Given the description of an element on the screen output the (x, y) to click on. 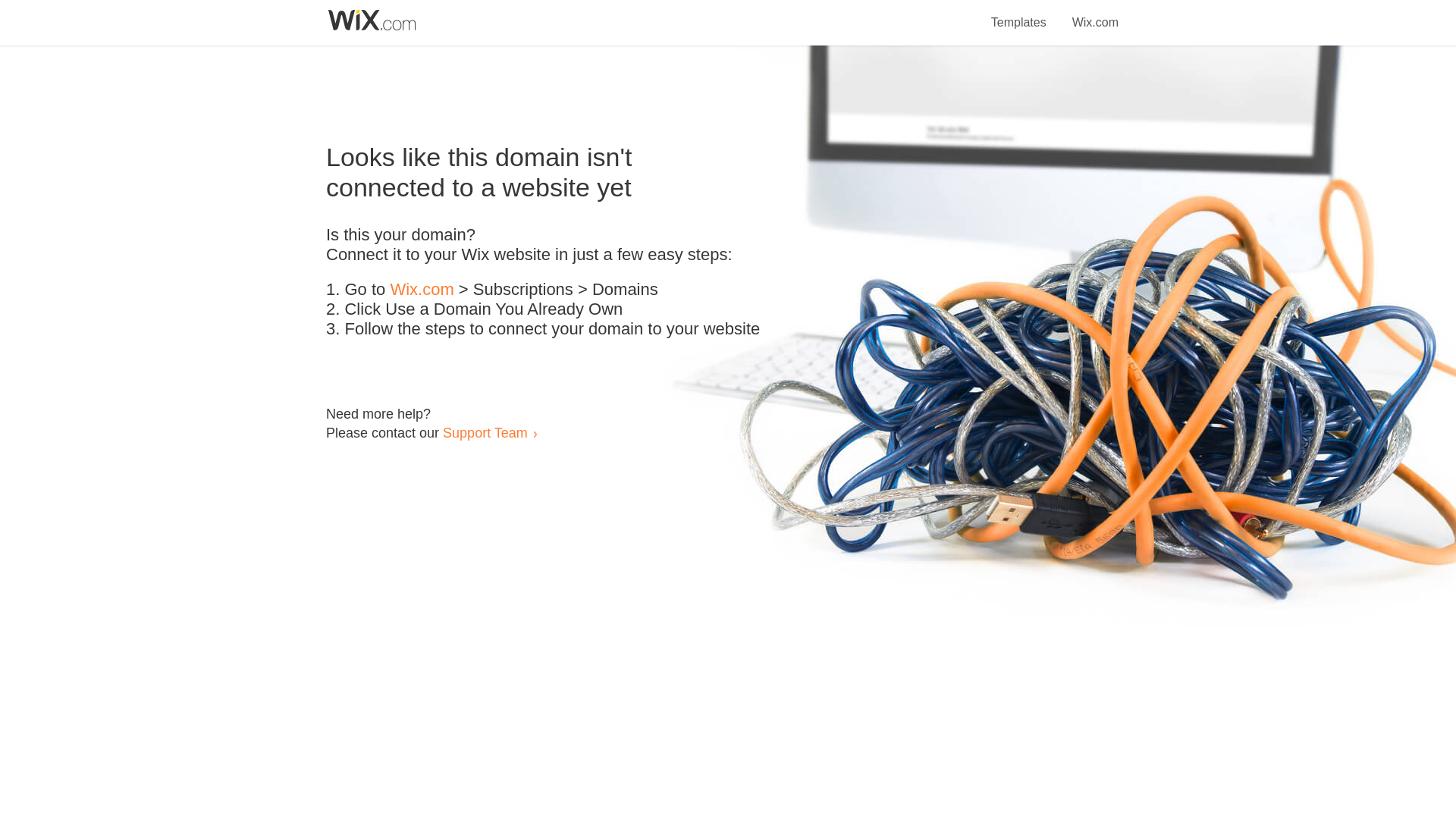
Wix.com (1095, 14)
Templates (1018, 14)
Support Team (484, 432)
Wix.com (421, 289)
